Given the description of an element on the screen output the (x, y) to click on. 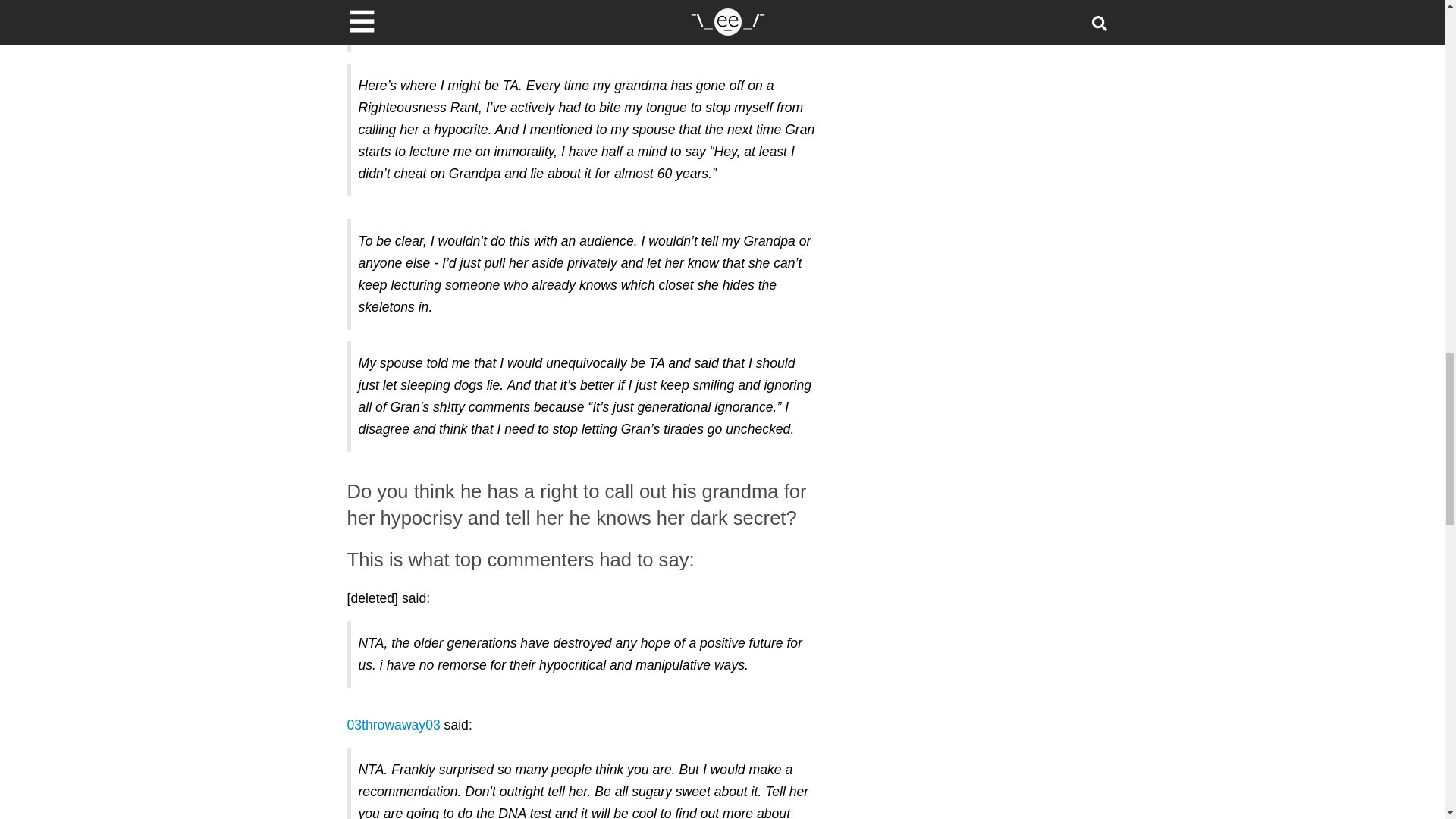
03throwaway03 (394, 724)
